Given the description of an element on the screen output the (x, y) to click on. 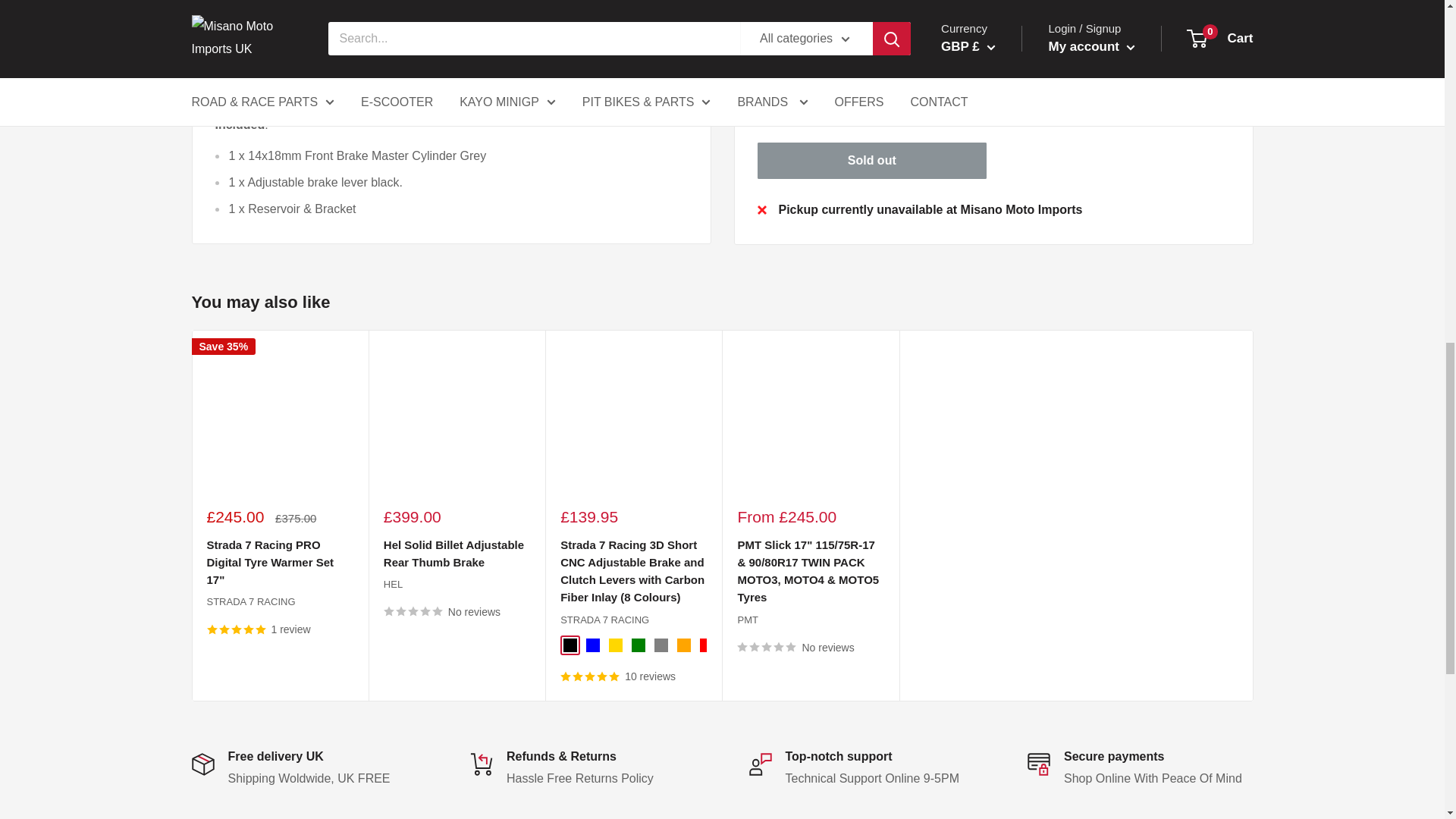
Gold (615, 644)
Red (706, 644)
Green (638, 644)
Blue (592, 644)
Grey (660, 644)
Black (569, 644)
Orange (683, 644)
